Given the description of an element on the screen output the (x, y) to click on. 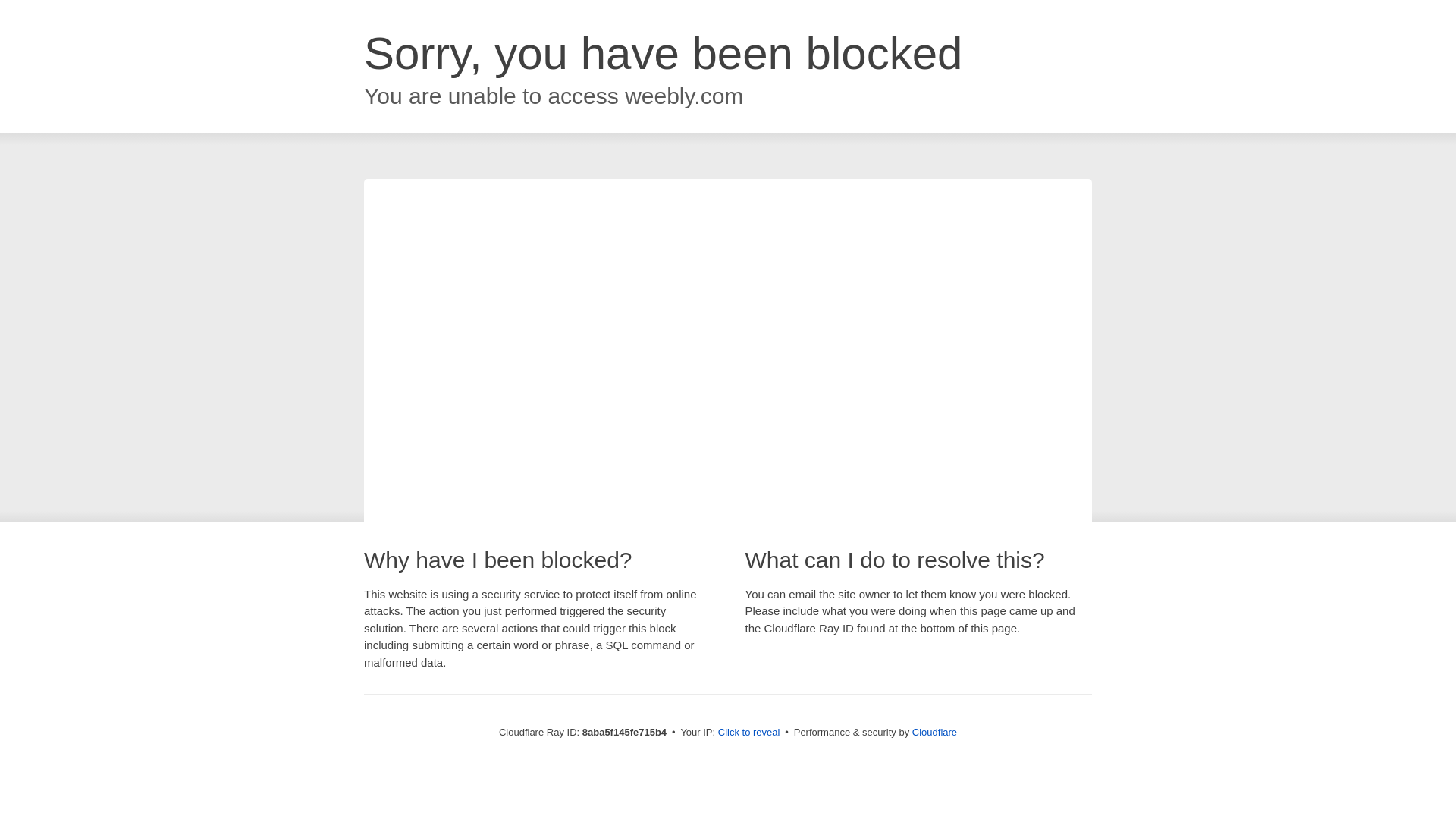
Cloudflare (934, 731)
Click to reveal (748, 732)
